Given the description of an element on the screen output the (x, y) to click on. 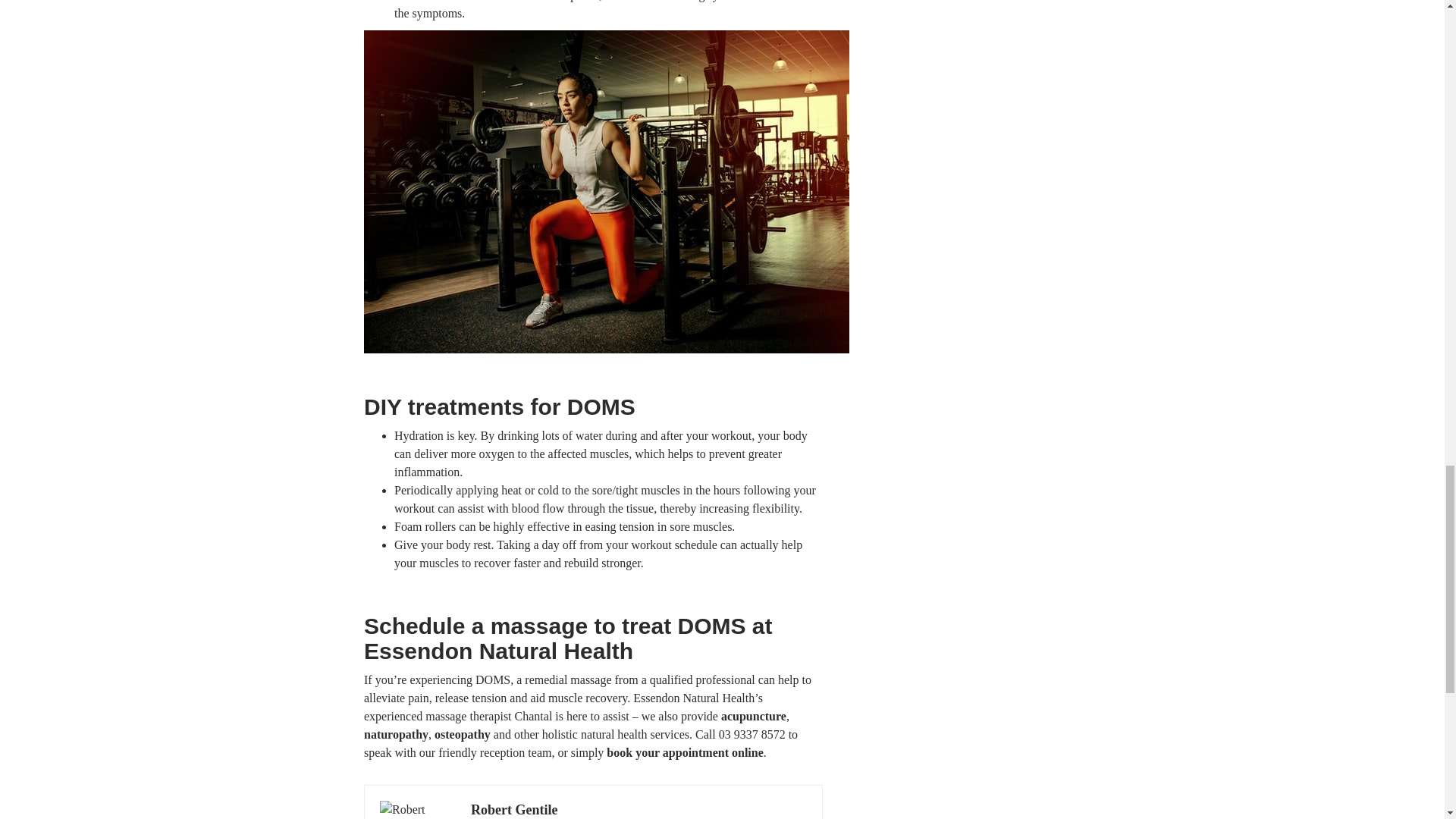
book your appointment online (684, 752)
acupuncture (753, 716)
naturopathy (396, 734)
Robert Gentile (513, 809)
osteopathy (461, 734)
